Given the description of an element on the screen output the (x, y) to click on. 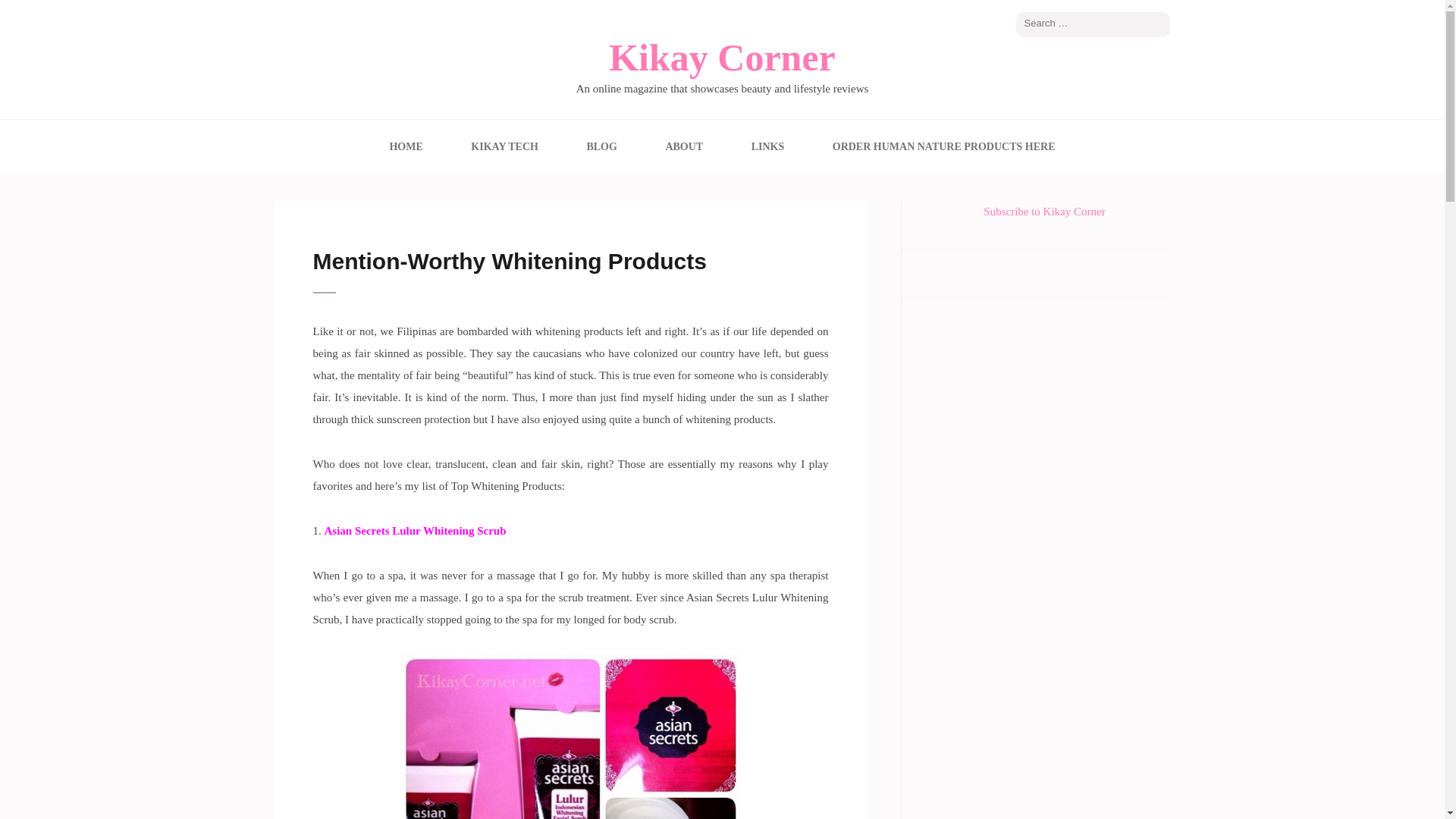
ORDER HUMAN NATURE PRODUCTS HERE (943, 145)
Search (1158, 24)
Asian Secrets Lulur Whitening Scrub (415, 530)
Search (1158, 24)
Search (1158, 24)
Subscribe to Kikay Corner (1044, 211)
KIKAY TECH (504, 145)
Kikay Corner (721, 56)
